Given the description of an element on the screen output the (x, y) to click on. 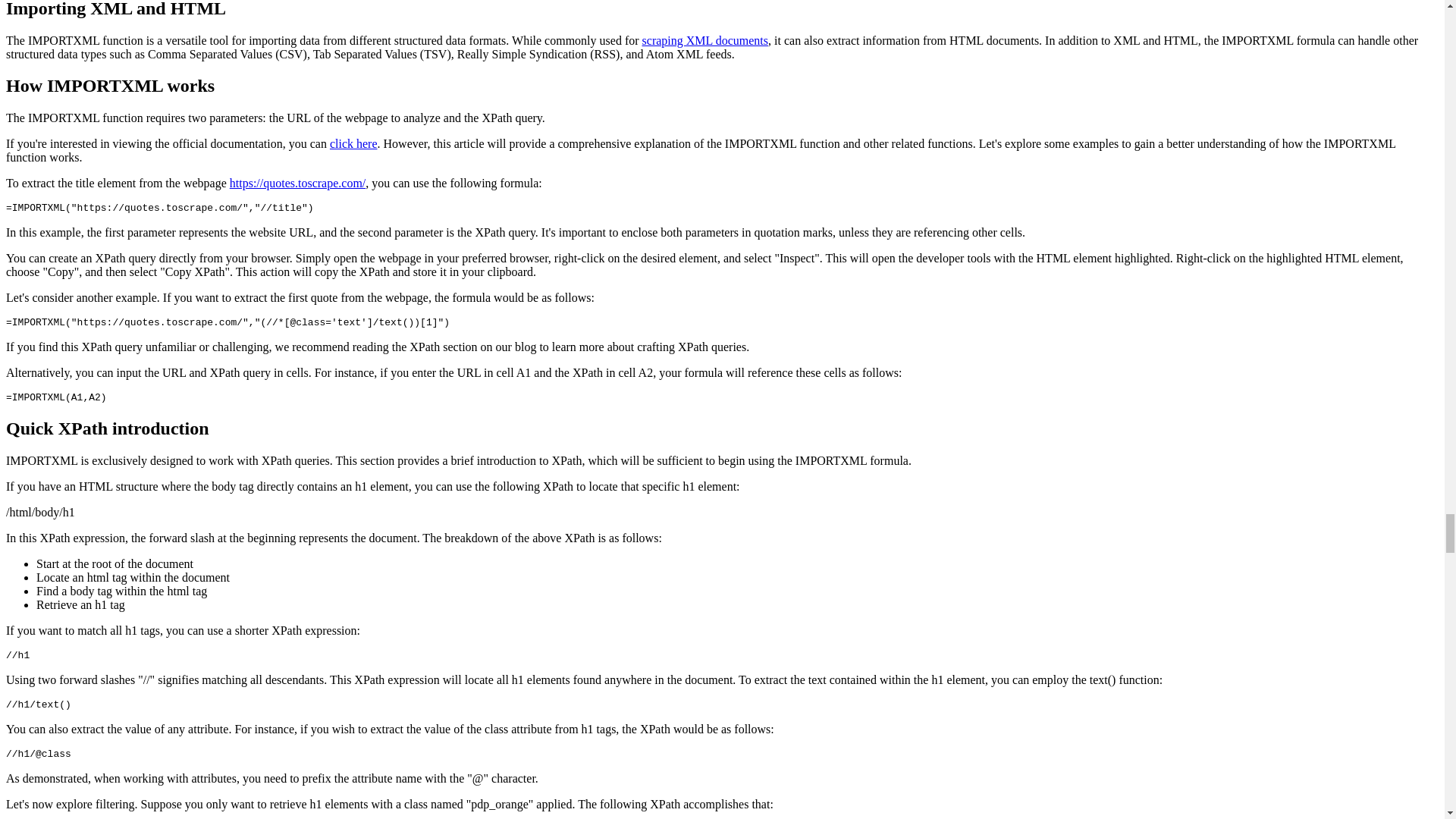
scraping XML documents (705, 39)
click here (353, 143)
